Given the description of an element on the screen output the (x, y) to click on. 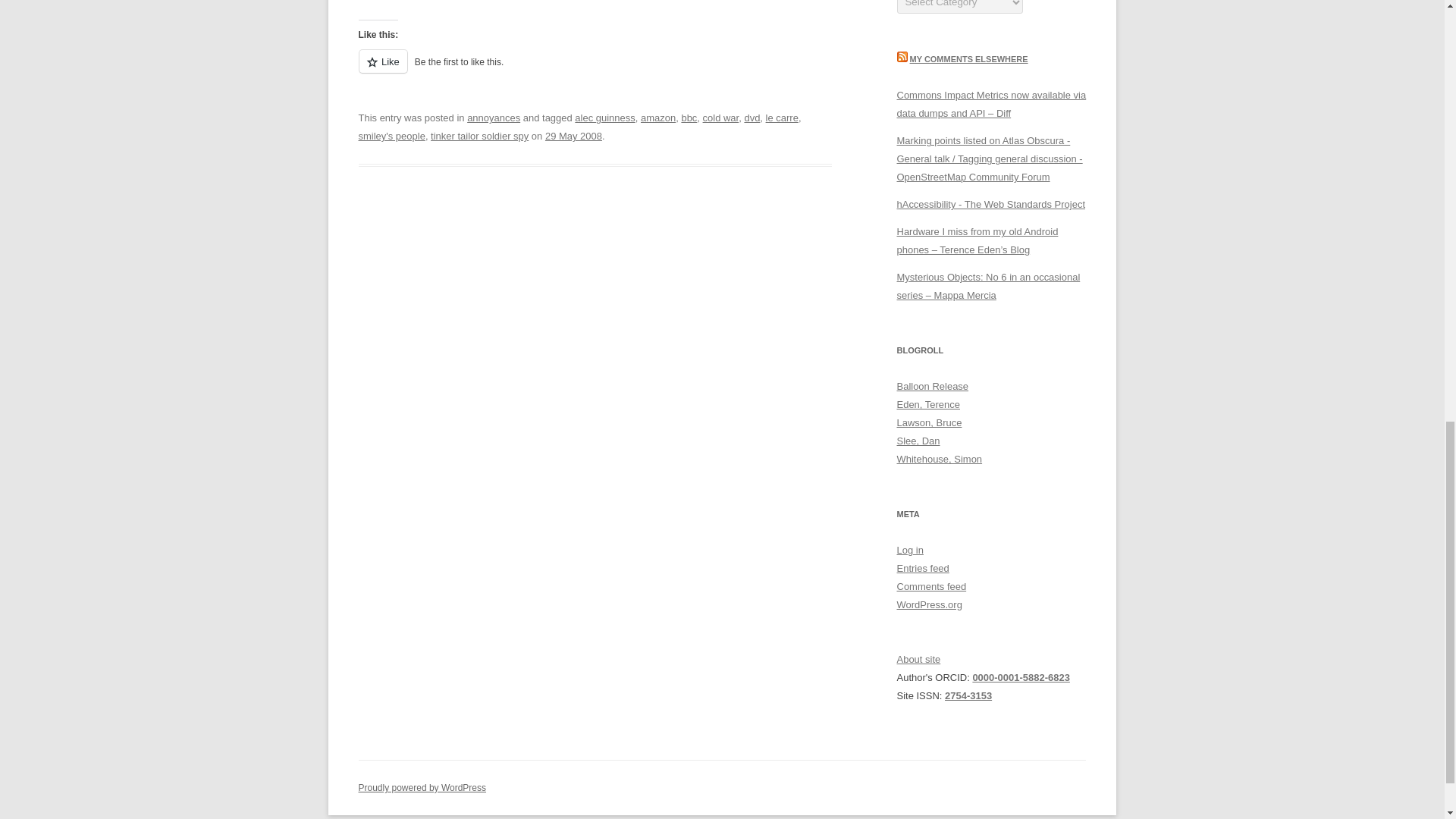
amazon (657, 117)
cold war (721, 117)
dvd (752, 117)
alec guinness (604, 117)
Mobile everything (927, 404)
smiley's people (391, 135)
bbc (689, 117)
Like or Reblog (594, 69)
Semantic Personal Publishing Platform (422, 787)
Open data and sweariness (938, 459)
29 May 2008 (573, 135)
le carre (781, 117)
Thinking of organising a balloon release? (932, 386)
annoyances (493, 117)
